Given the description of an element on the screen output the (x, y) to click on. 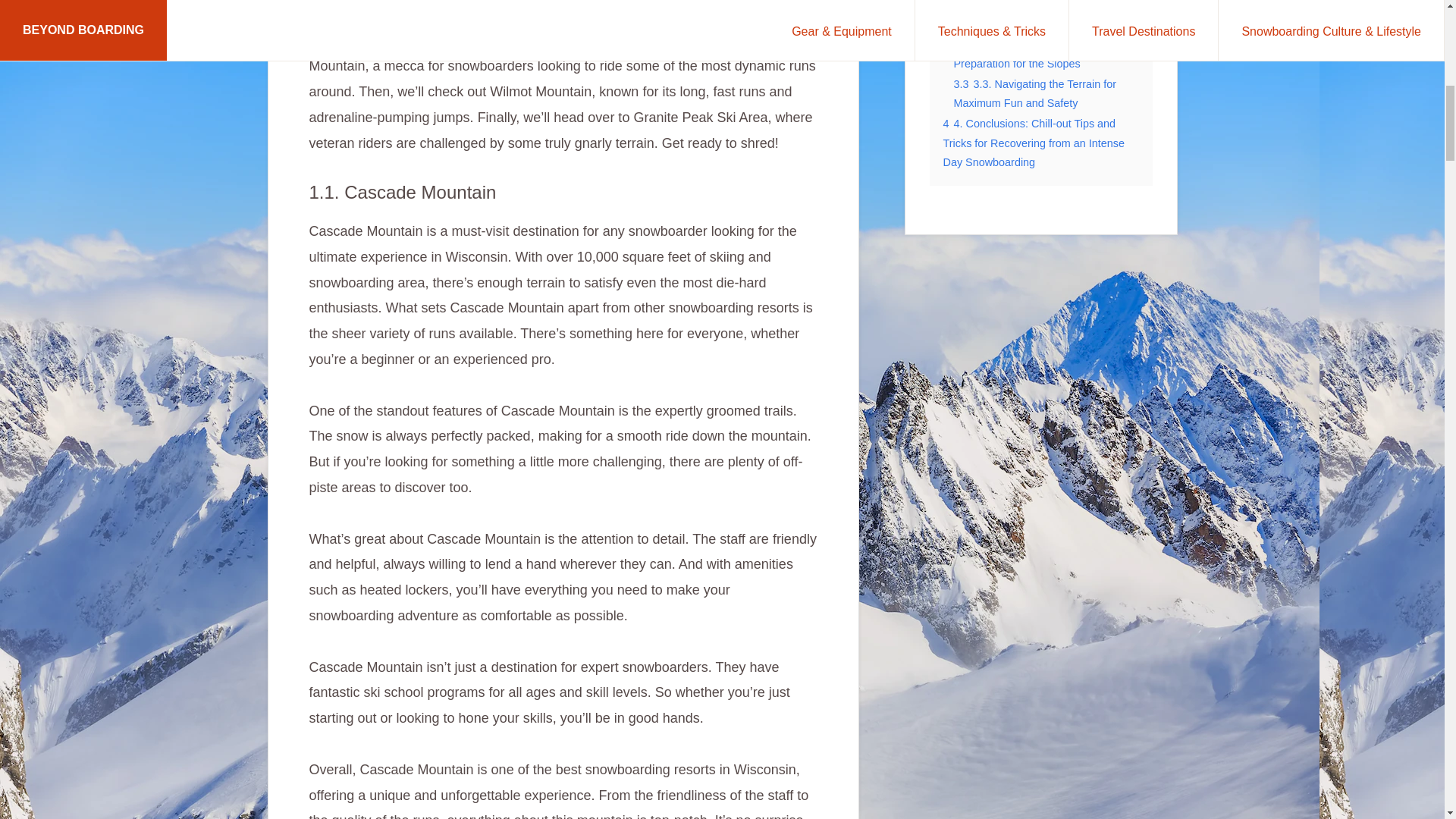
3.2 3.2. Mind Over Matter: Mental Preparation for the Slopes (1035, 53)
3.3 3.3. Navigating the Terrain for Maximum Fun and Safety (1034, 92)
3.1 3.1. Preparing Your Gear and Equipment (1034, 14)
